Given the description of an element on the screen output the (x, y) to click on. 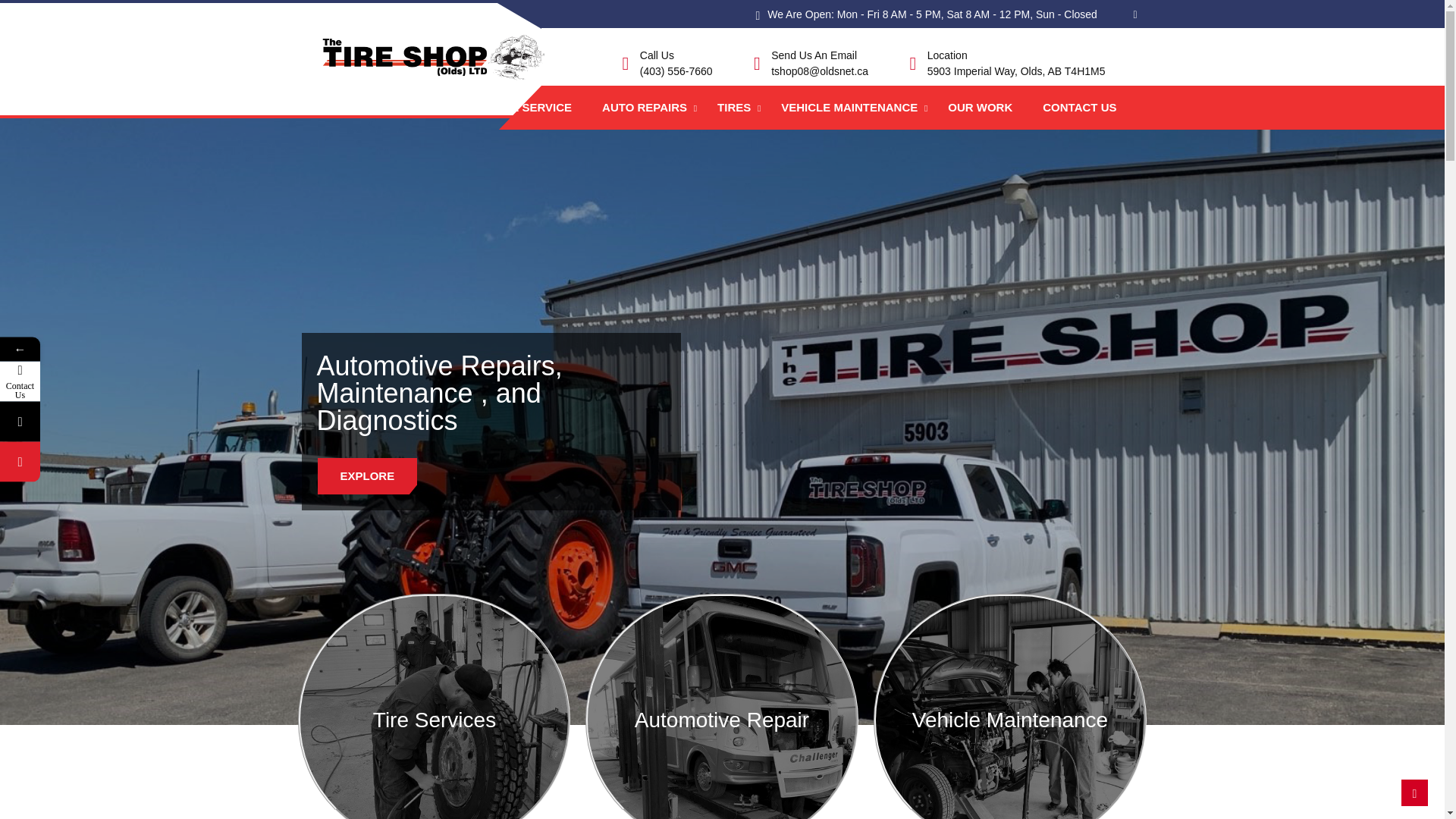
TIRES (733, 107)
EXPLORE (368, 491)
5903 Imperial Way, Olds, AB T4H1M5 (1016, 70)
CONTACT US (1079, 107)
OUR STORY (405, 107)
Automotive Repair (721, 720)
Tire Services (433, 720)
Vehicle Maintenance (1010, 720)
VEHICLE MAINTENANCE (849, 107)
Back to Top (1414, 792)
OUR WORK (979, 107)
WHO WE SERVICE (520, 107)
AUTO REPAIRS (644, 107)
